Given the description of an element on the screen output the (x, y) to click on. 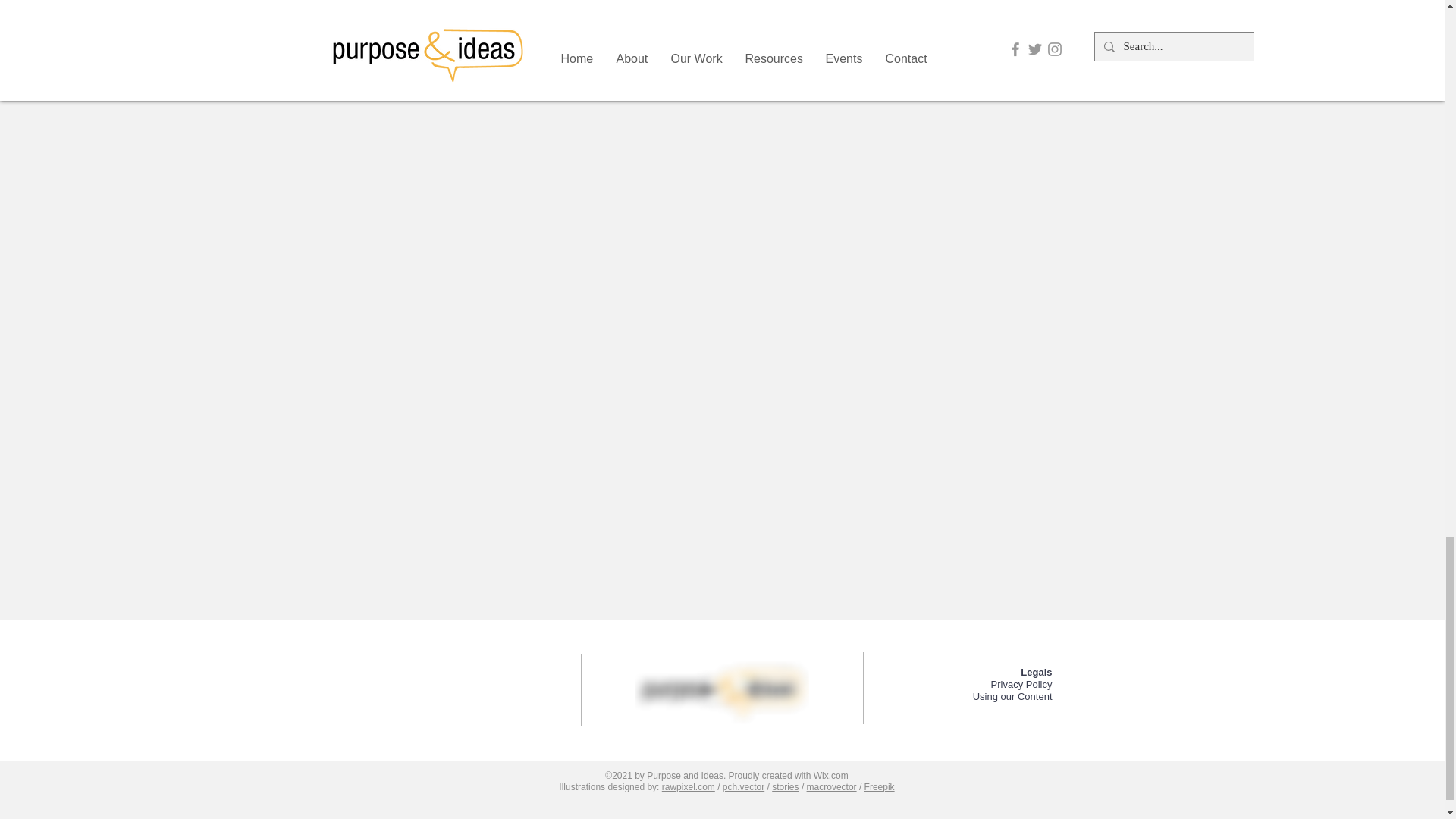
Using our Content (1012, 696)
stories (784, 787)
Freepik (879, 787)
macrovector (831, 787)
pch.vector (743, 787)
rawpixel.com (688, 787)
Privacy Policy (1021, 684)
